Given the description of an element on the screen output the (x, y) to click on. 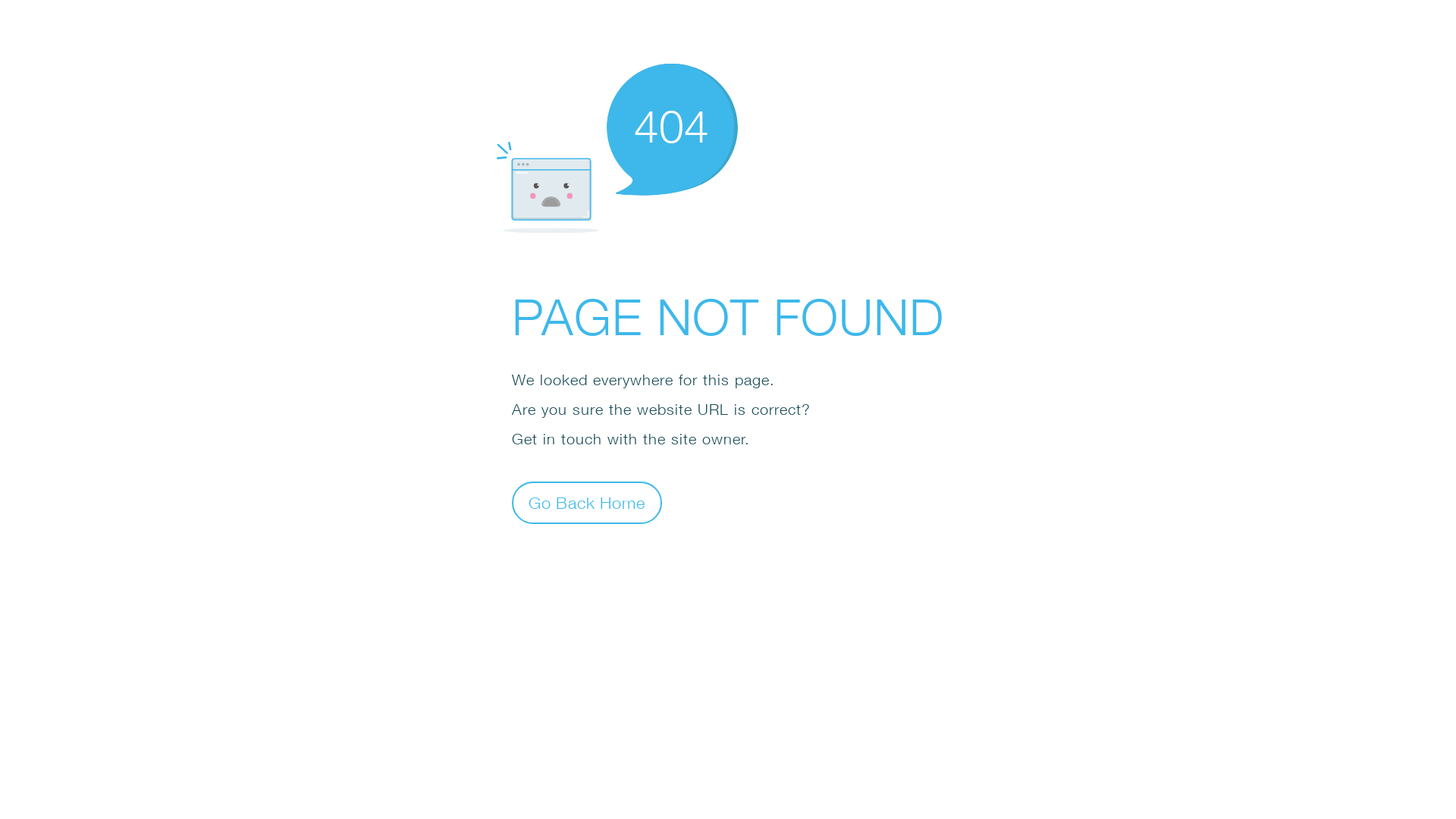
Go Back Home Element type: text (586, 502)
